Given the description of an element on the screen output the (x, y) to click on. 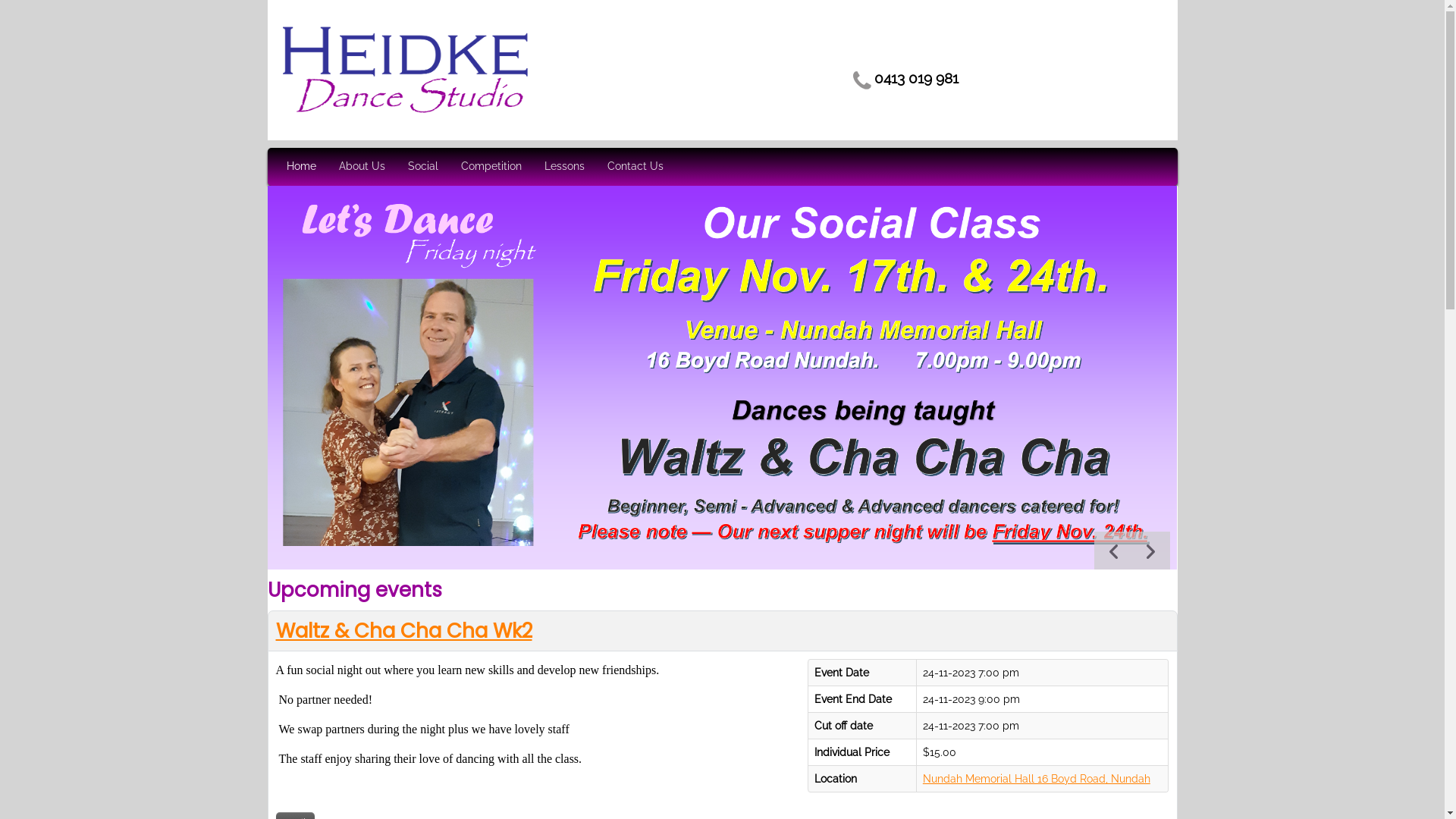
Competition Element type: text (491, 166)
Waltz & Cha Cha Cha Wk2 Element type: text (404, 630)
About Us Element type: text (361, 166)
Home Element type: text (301, 166)
Contact Us Element type: text (634, 166)
Lessons Element type: text (564, 166)
Nundah Memorial Hall 16 Boyd Road, Nundah Element type: text (1036, 778)
Social Element type: text (422, 166)
